Given the description of an element on the screen output the (x, y) to click on. 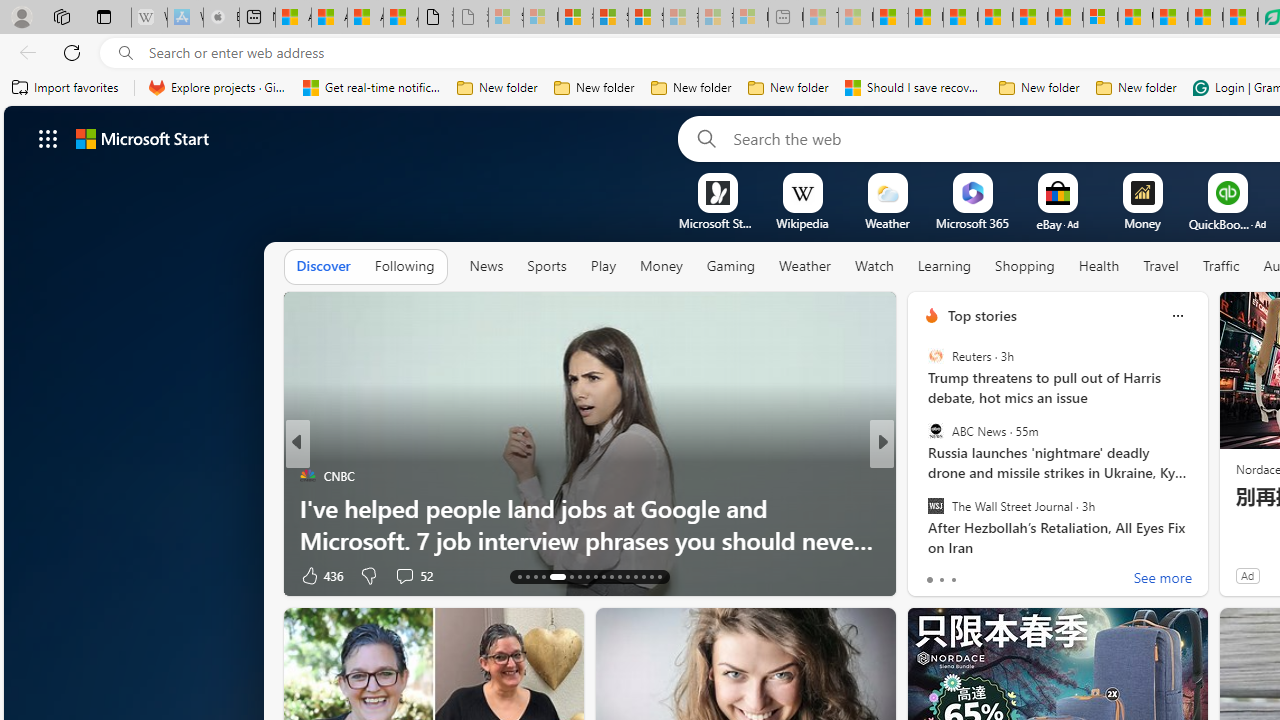
AutomationID: tab-15 (535, 576)
Chip Chick (923, 475)
Not Your Boss Babe (923, 475)
Kobocents (923, 475)
Microsoft start (142, 138)
